Given the description of an element on the screen output the (x, y) to click on. 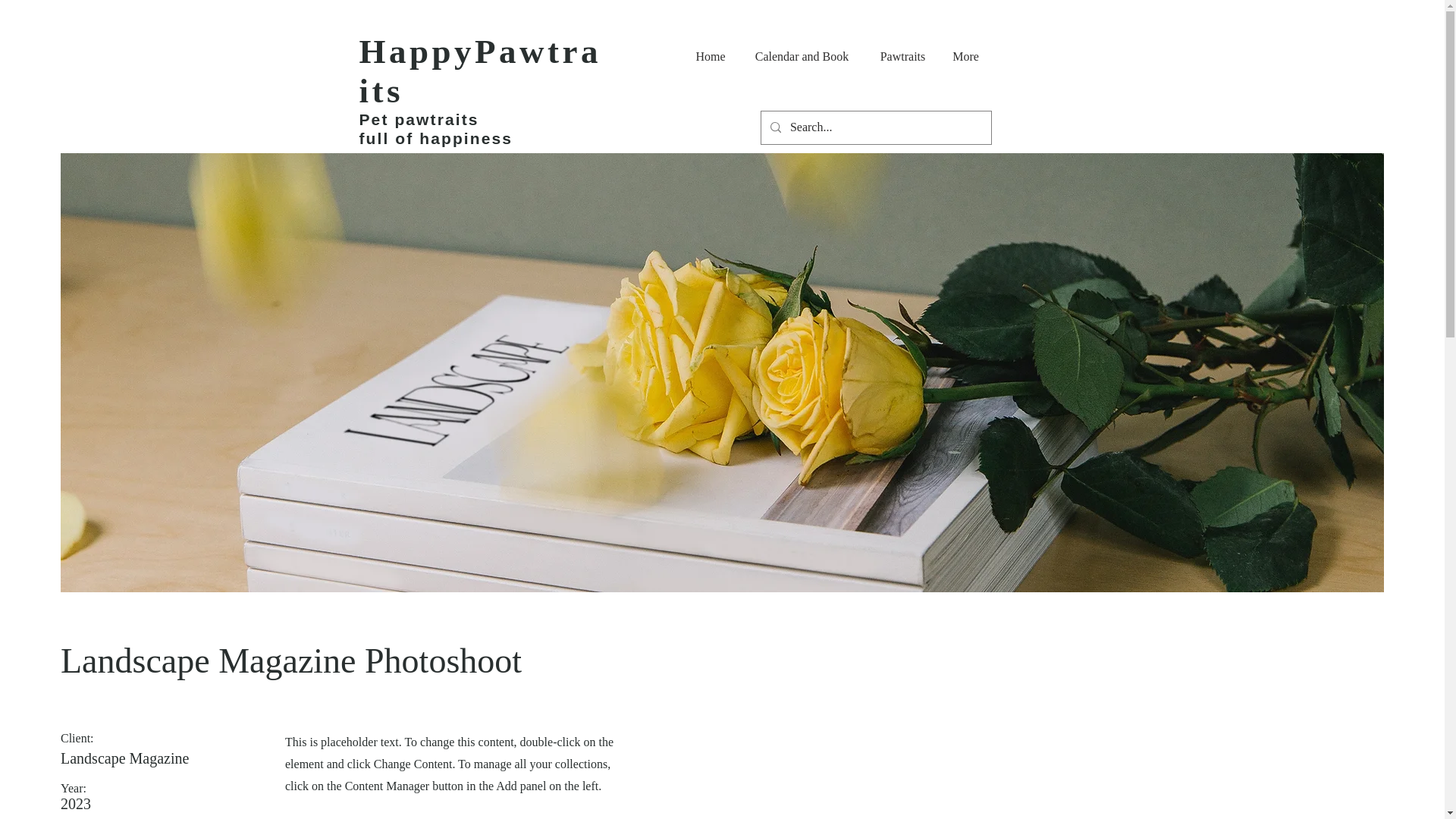
HappyPawtraits (480, 70)
full of happiness (436, 138)
Calendar and Book (802, 56)
Pawtraits (903, 56)
Home (710, 56)
Pet pawtraits (419, 118)
